Given the description of an element on the screen output the (x, y) to click on. 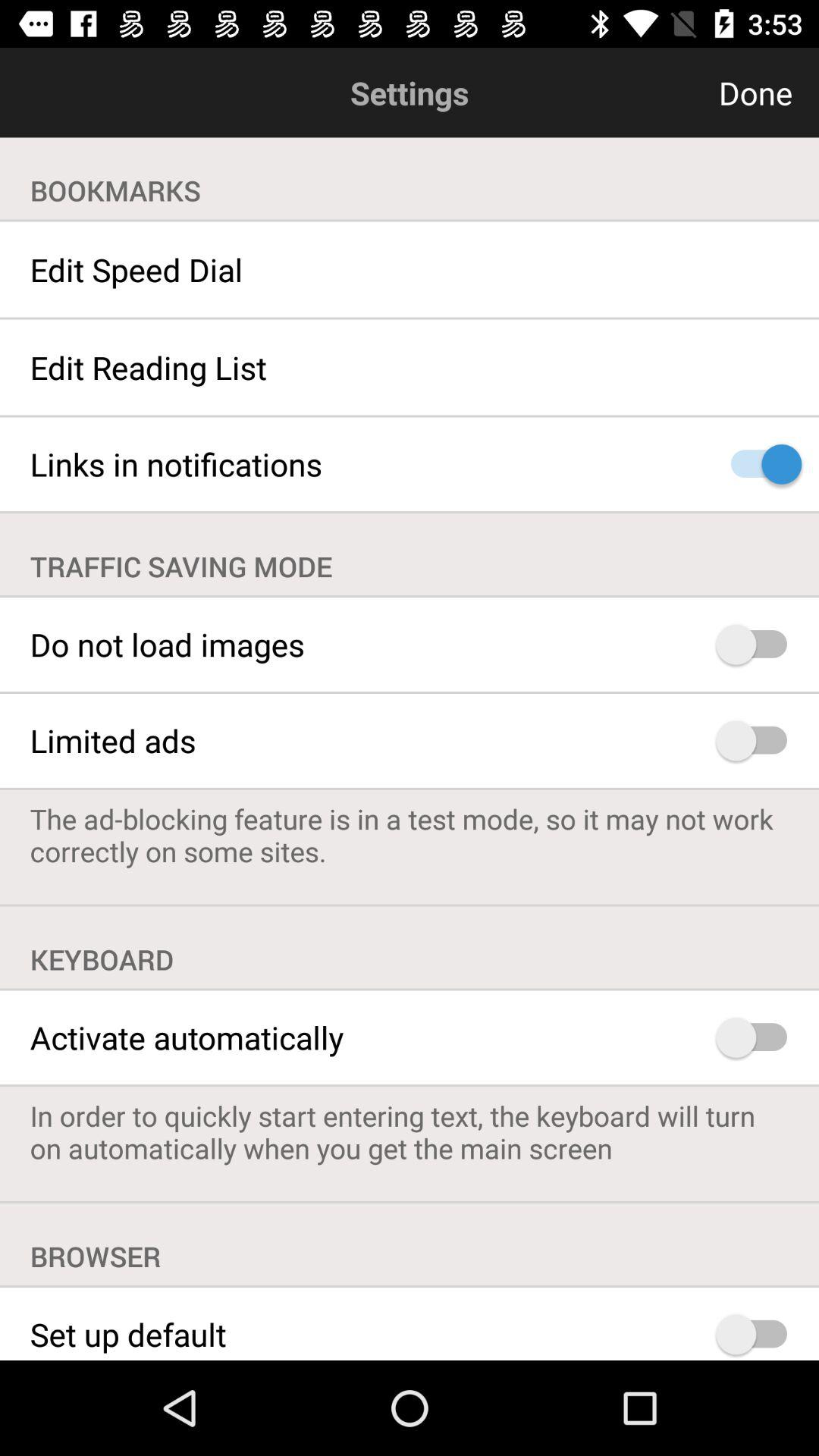
toggle links in notifications (758, 464)
